Given the description of an element on the screen output the (x, y) to click on. 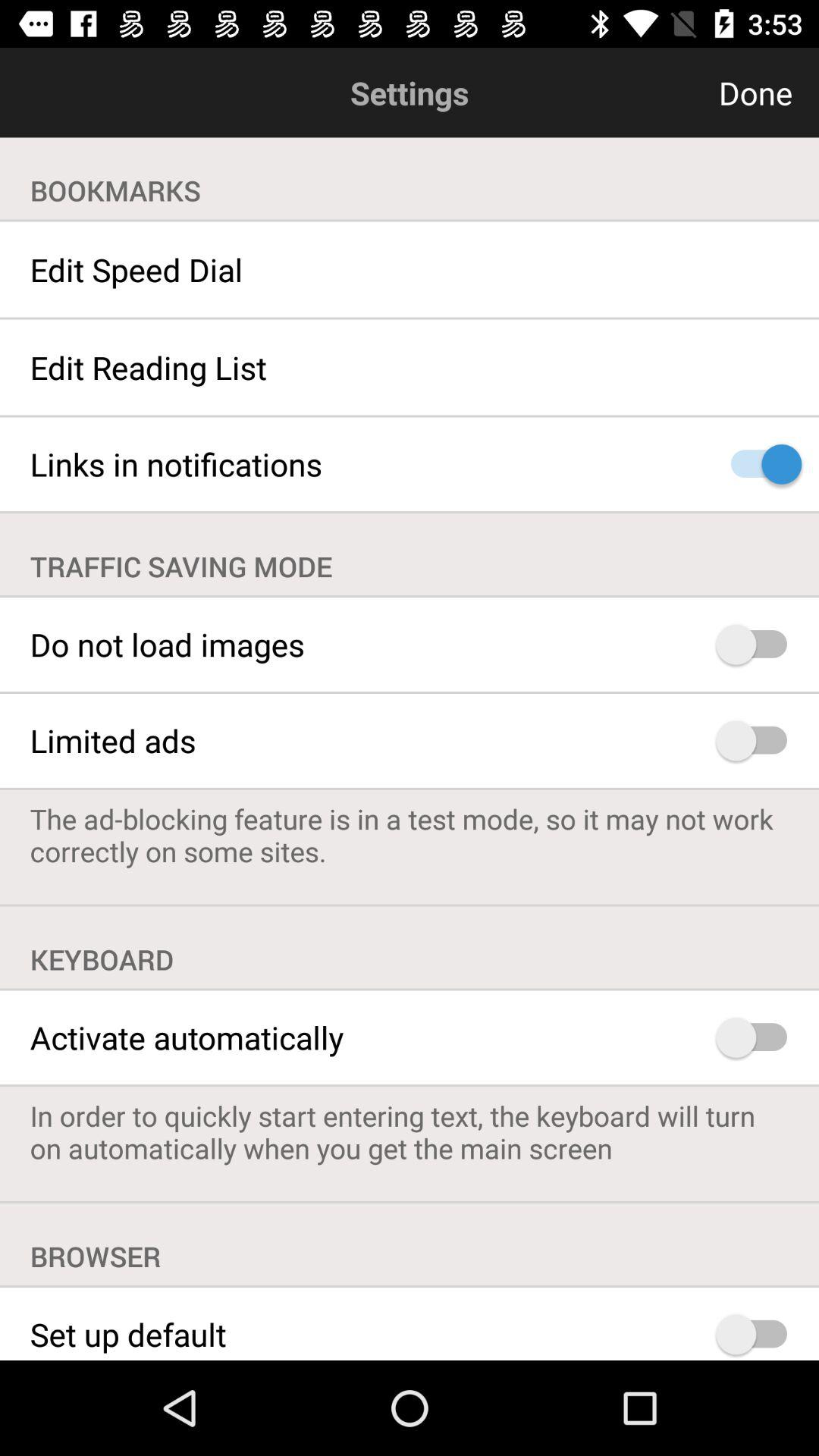
toggle links in notifications (758, 464)
